Given the description of an element on the screen output the (x, y) to click on. 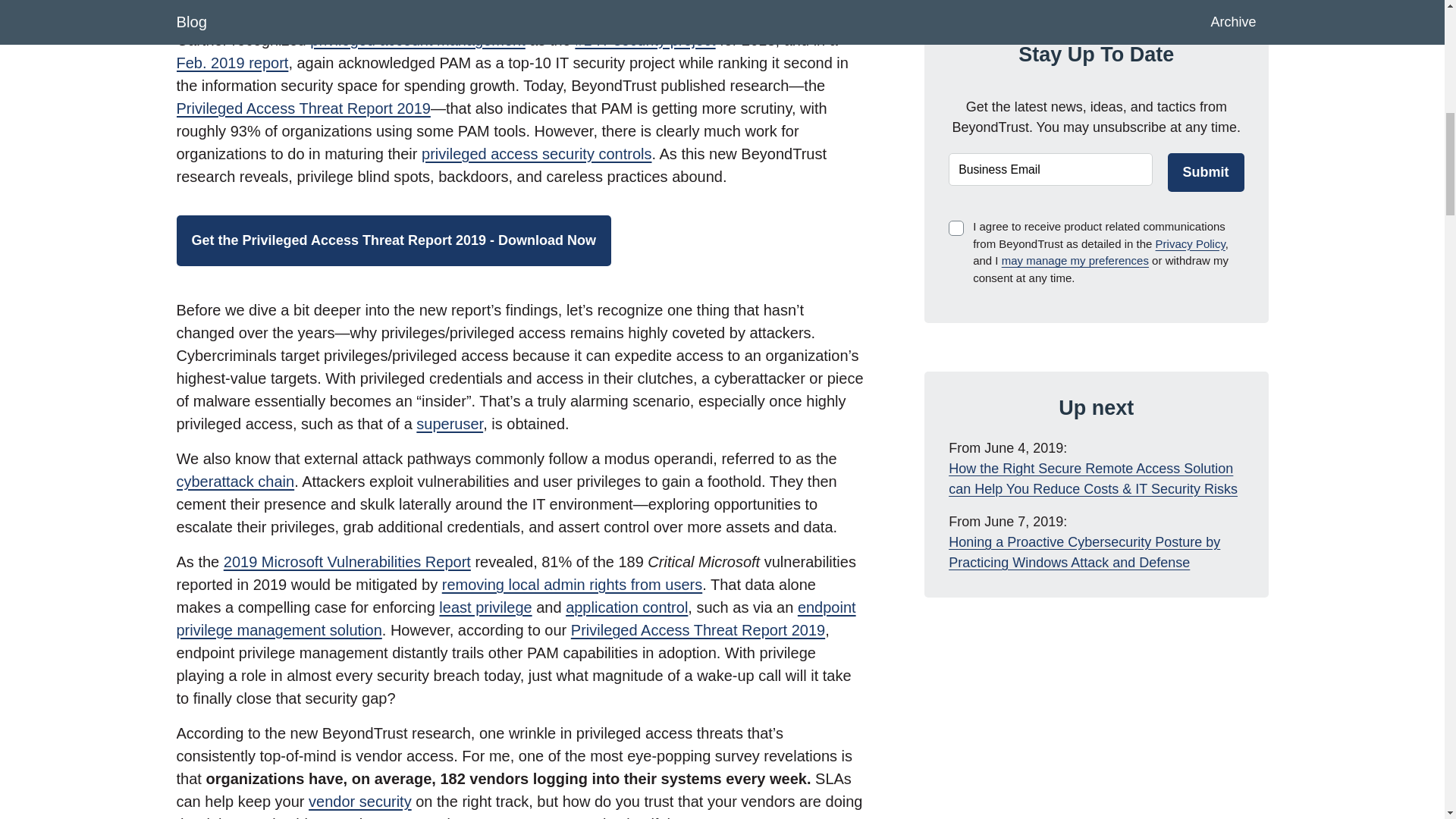
Get the Privileged Access Threat Report 2019 - Download Now (393, 240)
privileged access security controls (536, 153)
Feb. 2019 report (232, 62)
privileged account management (417, 39)
Privileged Access Threat Report 2019 (302, 108)
